Given the description of an element on the screen output the (x, y) to click on. 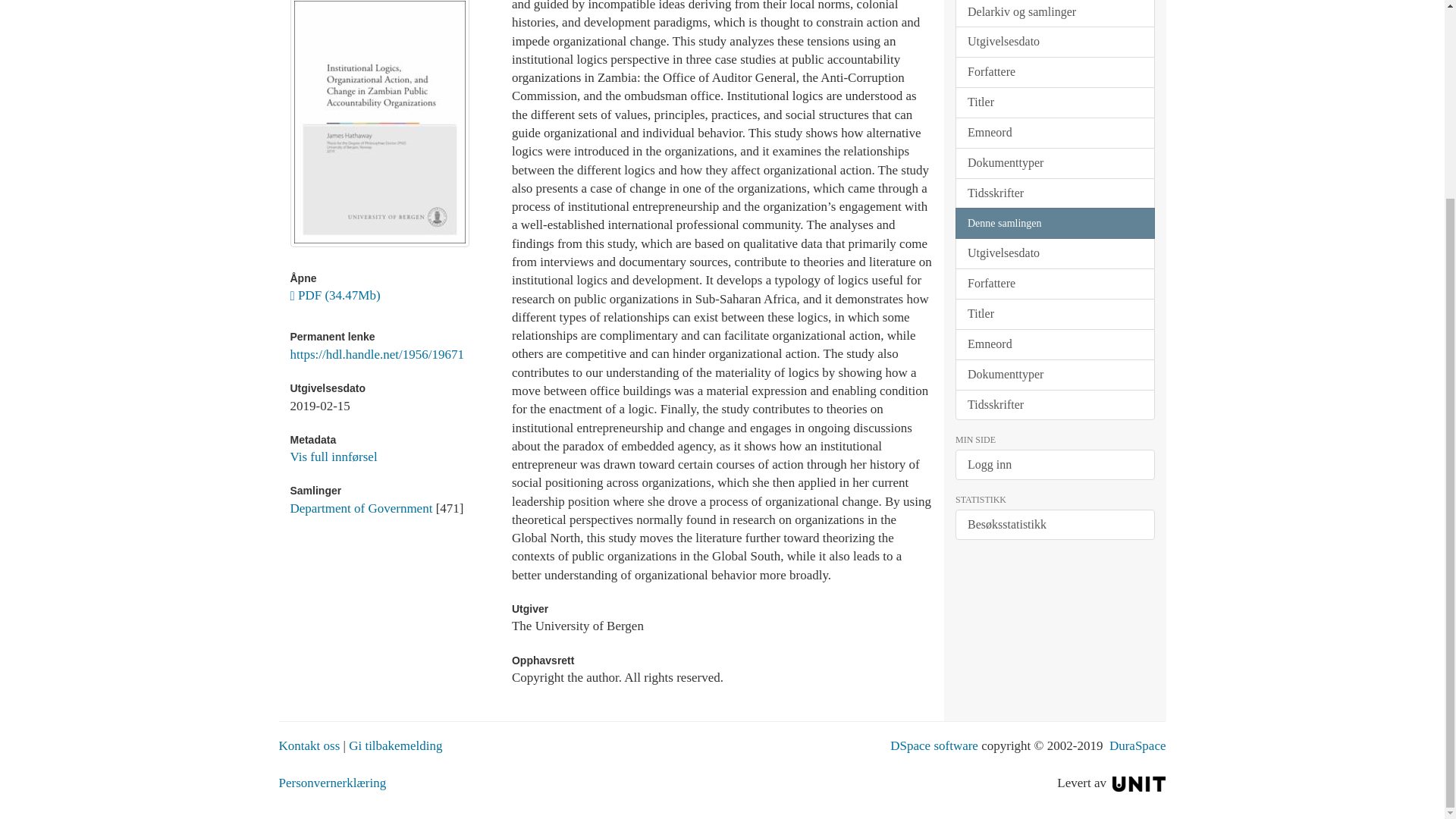
Unit (1139, 782)
Delarkiv og samlinger (1054, 13)
Forfattere (1054, 71)
Emneord (1054, 132)
Titler (1054, 101)
Department of Government (360, 508)
Utgivelsesdato (1054, 41)
